Given the description of an element on the screen output the (x, y) to click on. 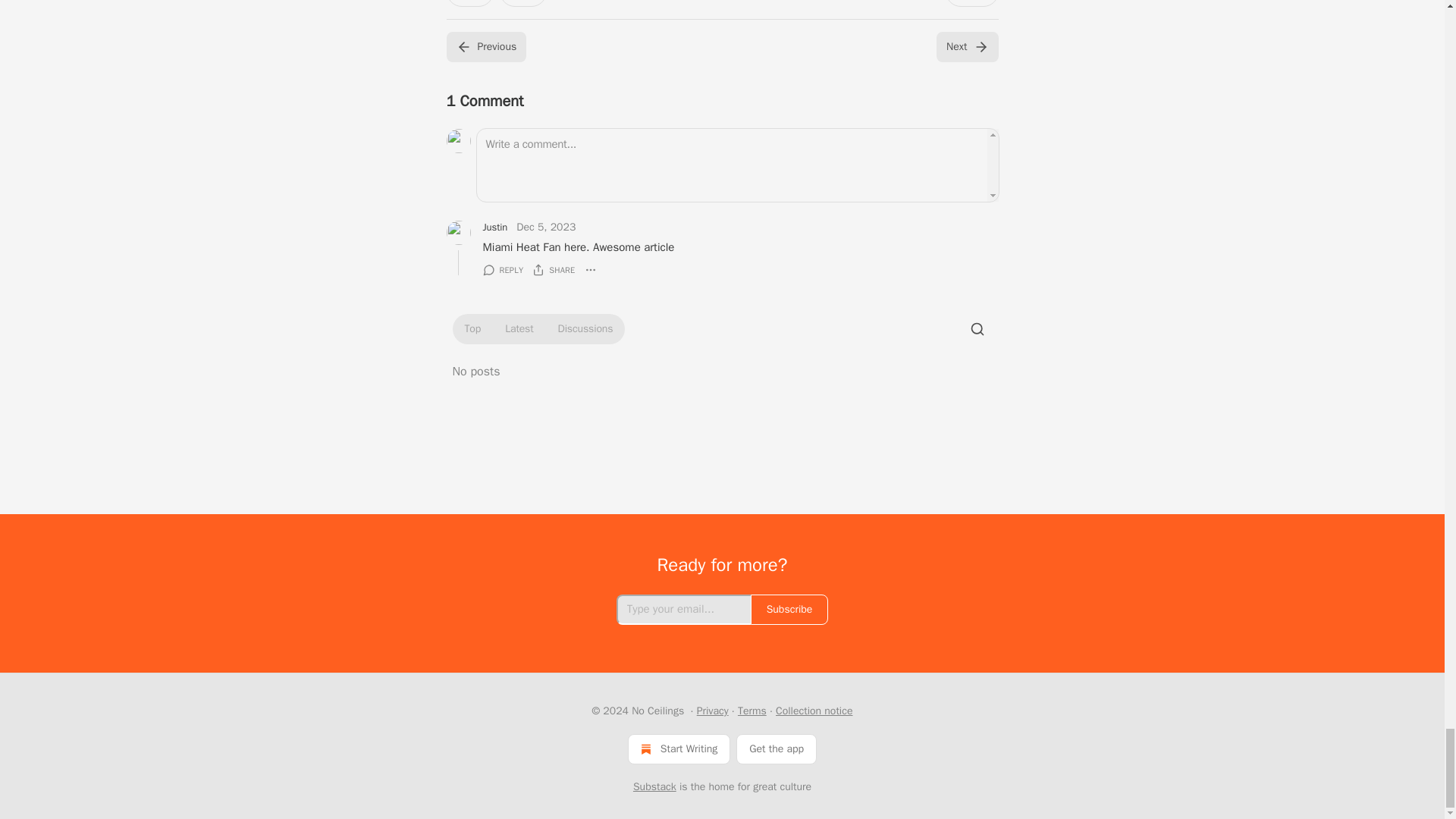
1 (523, 3)
Share (970, 3)
8 (469, 3)
